Given the description of an element on the screen output the (x, y) to click on. 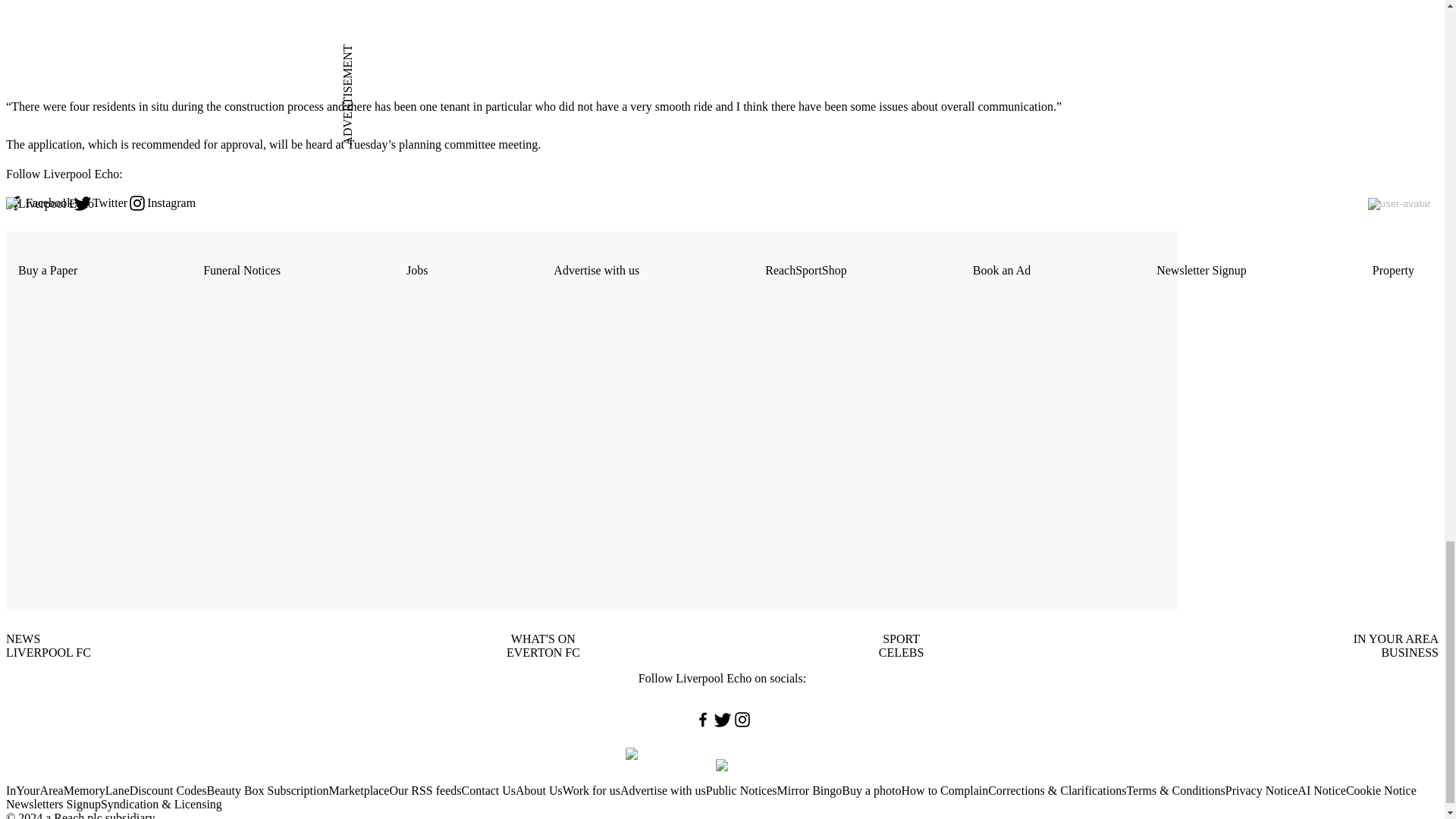
Instagram (161, 202)
Twitter (100, 202)
Facebook (38, 202)
